Given the description of an element on the screen output the (x, y) to click on. 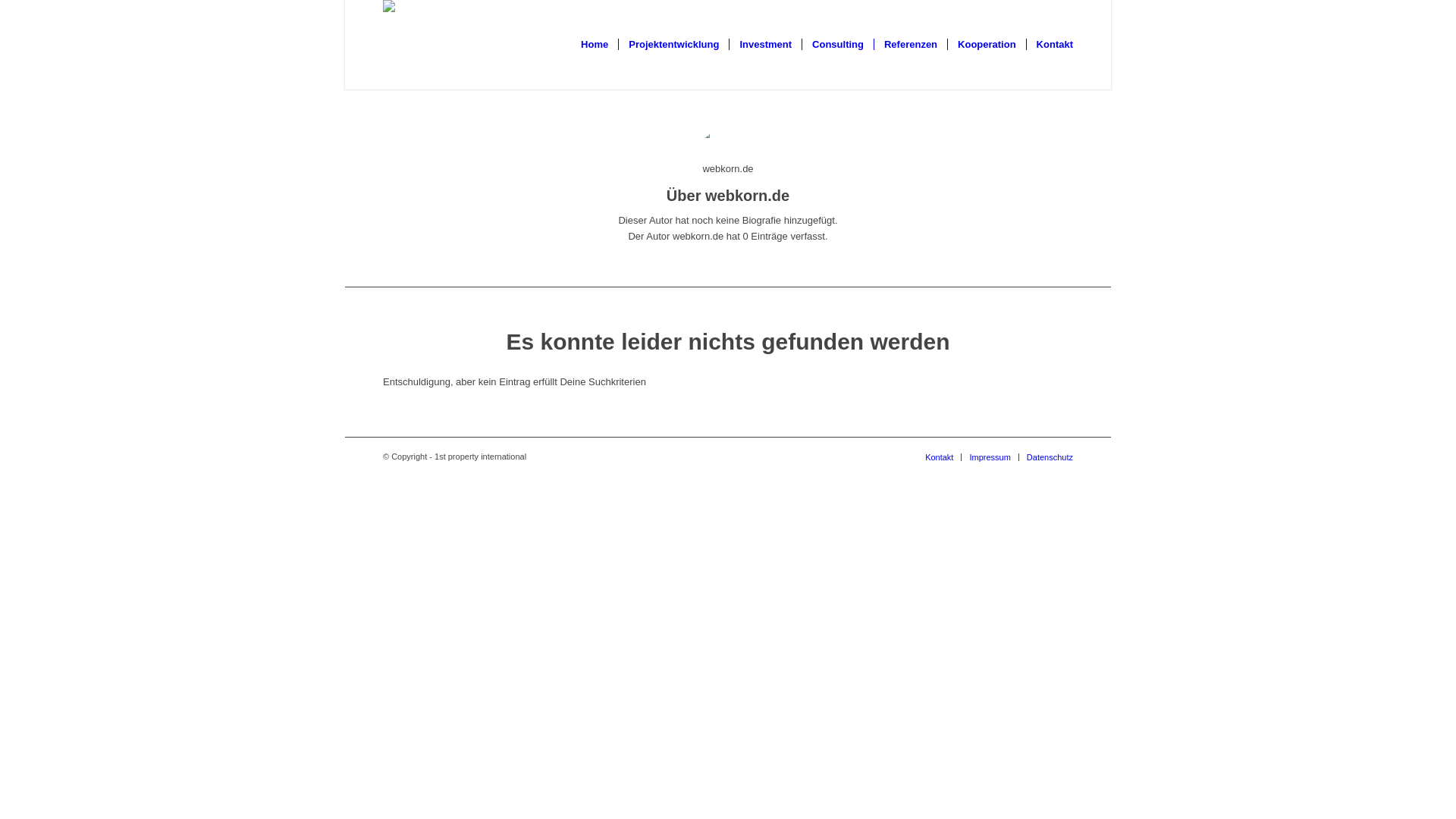
Kontakt Element type: text (1049, 44)
Referenzen Element type: text (910, 44)
Home Element type: text (594, 44)
Kooperation Element type: text (986, 44)
Kontakt Element type: text (939, 456)
Investment Element type: text (764, 44)
Datenschutz Element type: text (1049, 456)
Projektentwicklung Element type: text (673, 44)
Consulting Element type: text (837, 44)
Impressum Element type: text (989, 456)
